Given the description of an element on the screen output the (x, y) to click on. 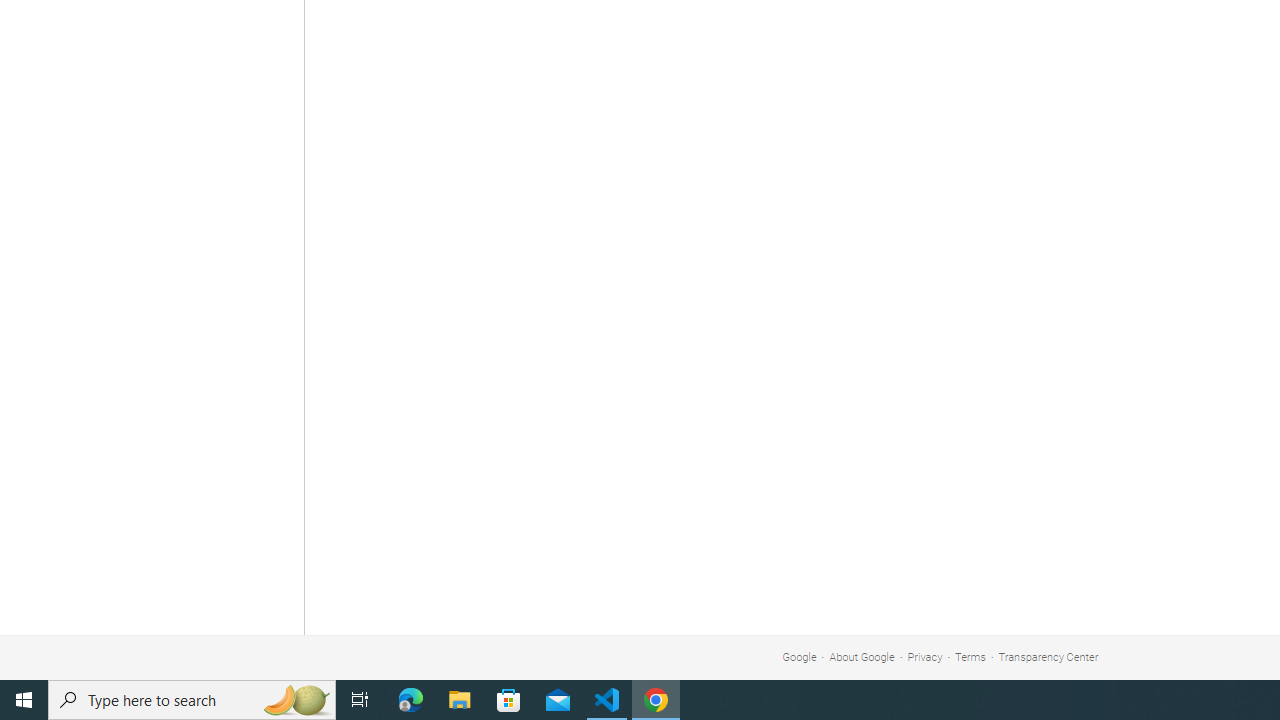
Transparency Center (1048, 656)
About Google (861, 656)
